Given the description of an element on the screen output the (x, y) to click on. 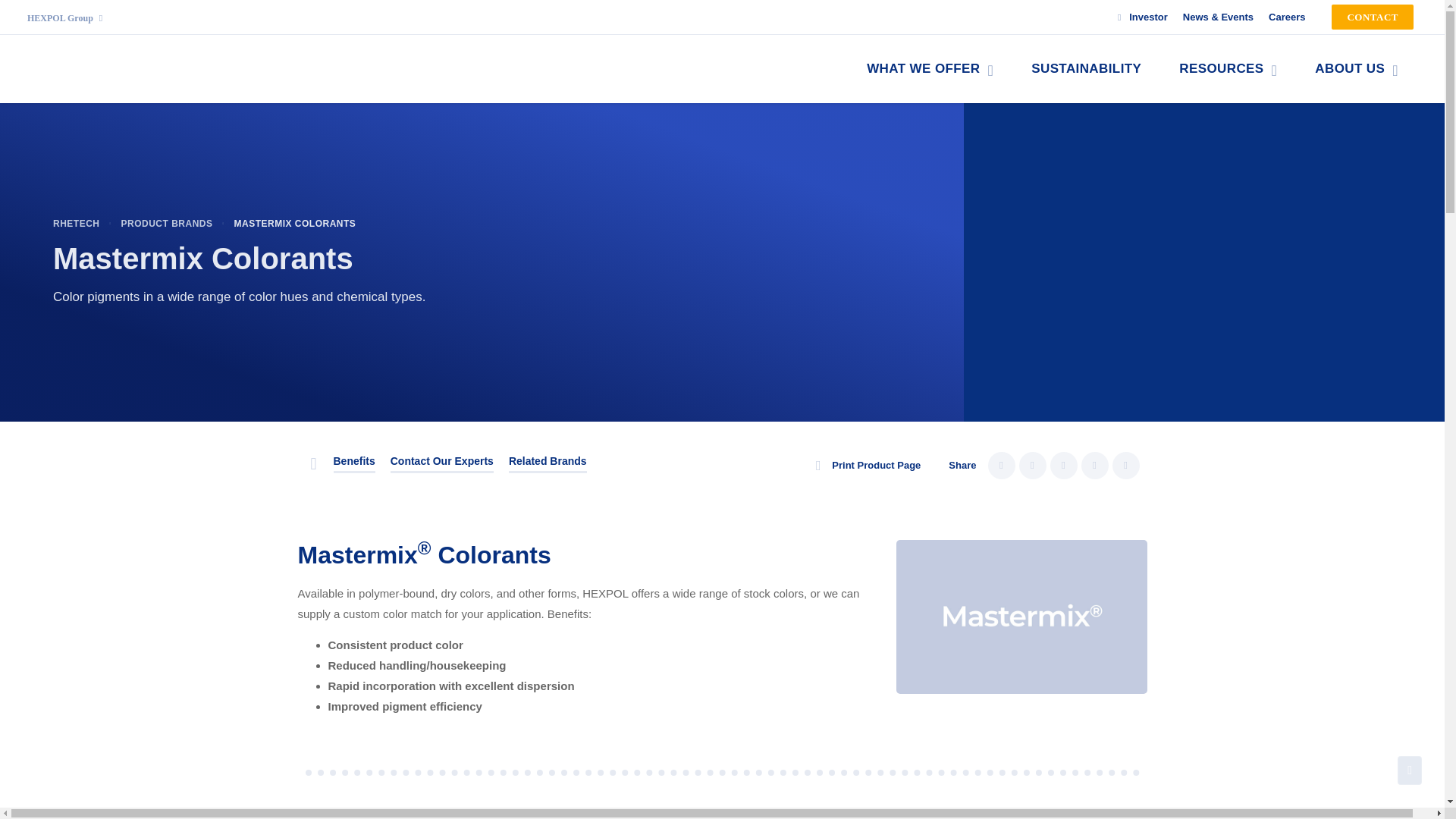
HEXPOL Group (64, 17)
WHAT WE OFFER (930, 68)
Investor (1138, 17)
Product Brands (166, 223)
CONTACT (1372, 16)
RESOURCES (1228, 68)
RheTech (76, 223)
SUSTAINABILITY (1085, 68)
Careers (1286, 17)
